Given the description of an element on the screen output the (x, y) to click on. 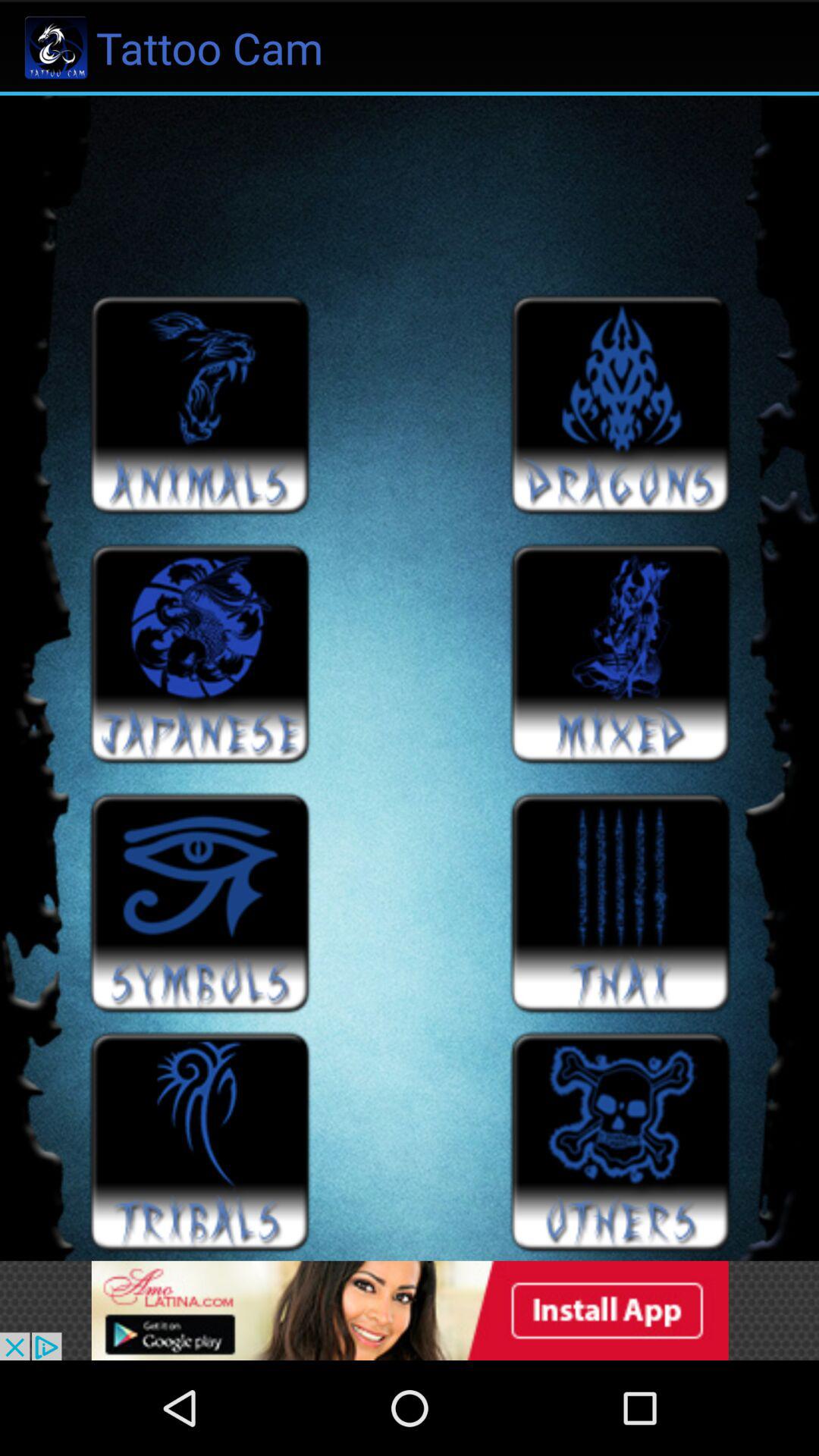
go to advertisement (409, 1310)
